Given the description of an element on the screen output the (x, y) to click on. 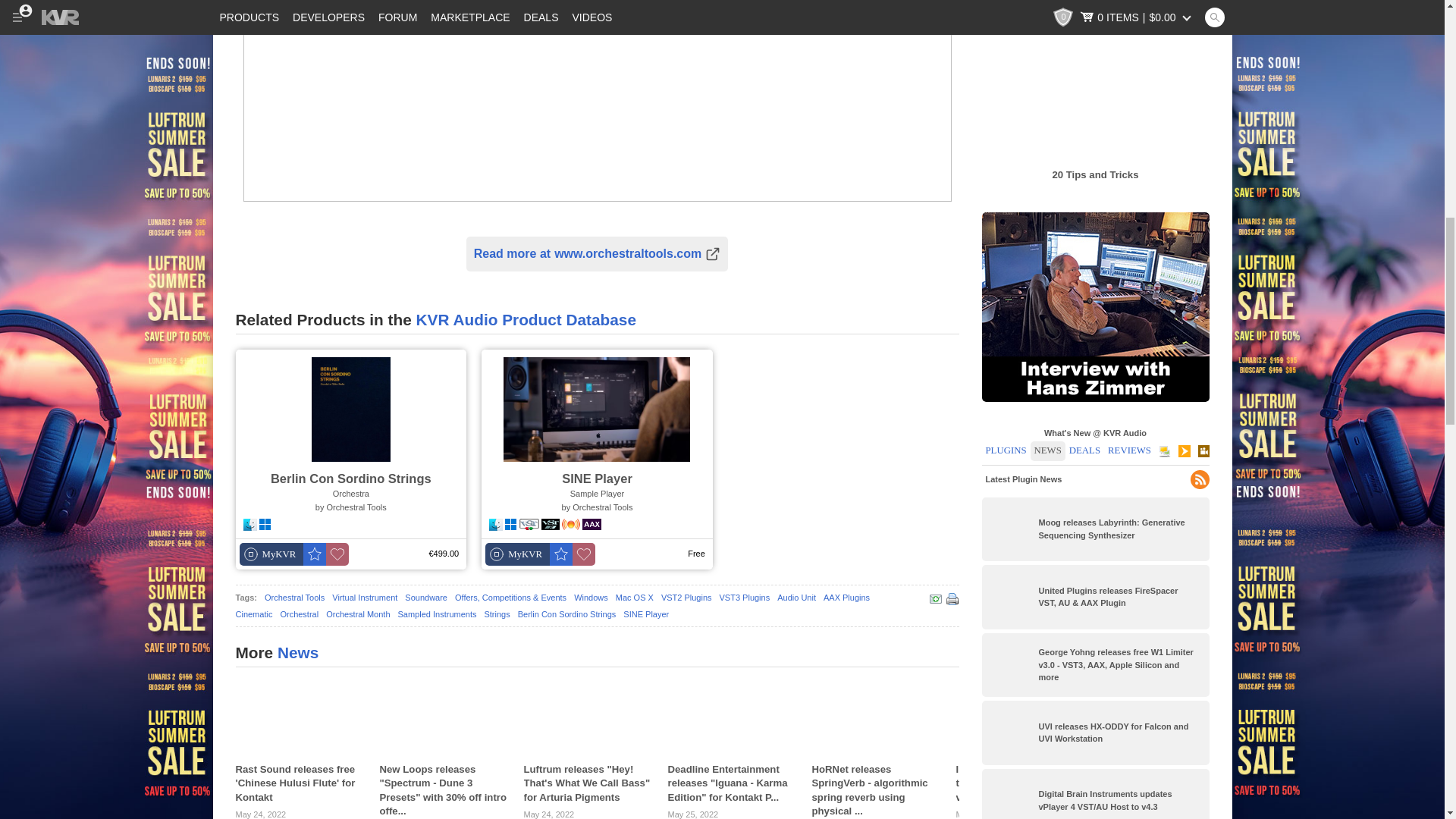
Luftrum Summer Sale (106, 63)
